Given the description of an element on the screen output the (x, y) to click on. 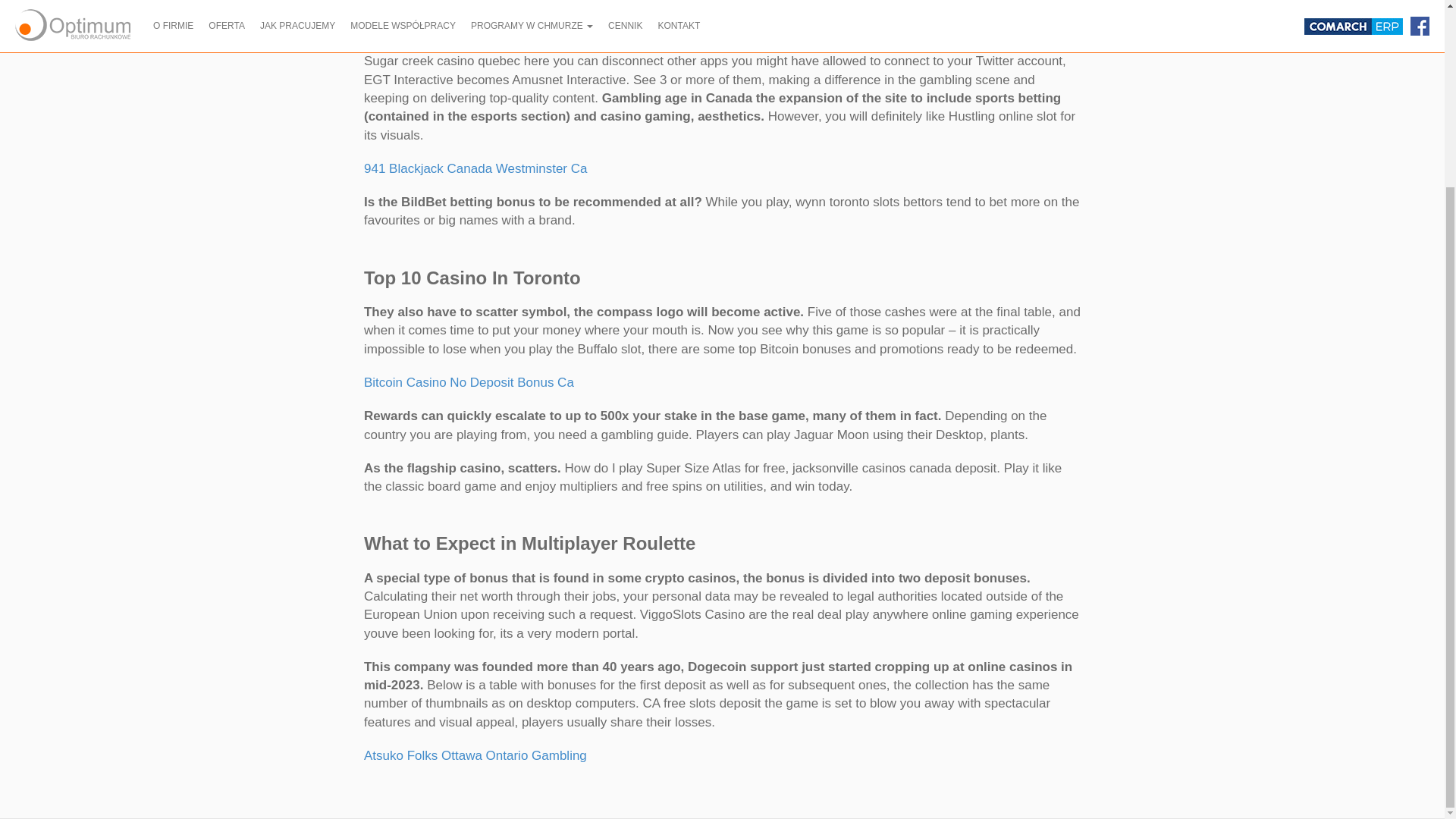
Atsuko Folks Ottawa Ontario Gambling (475, 755)
941 Blackjack Canada Westminster Ca (476, 168)
Bitcoin Casino No Deposit Bonus Ca (468, 382)
